Given the description of an element on the screen output the (x, y) to click on. 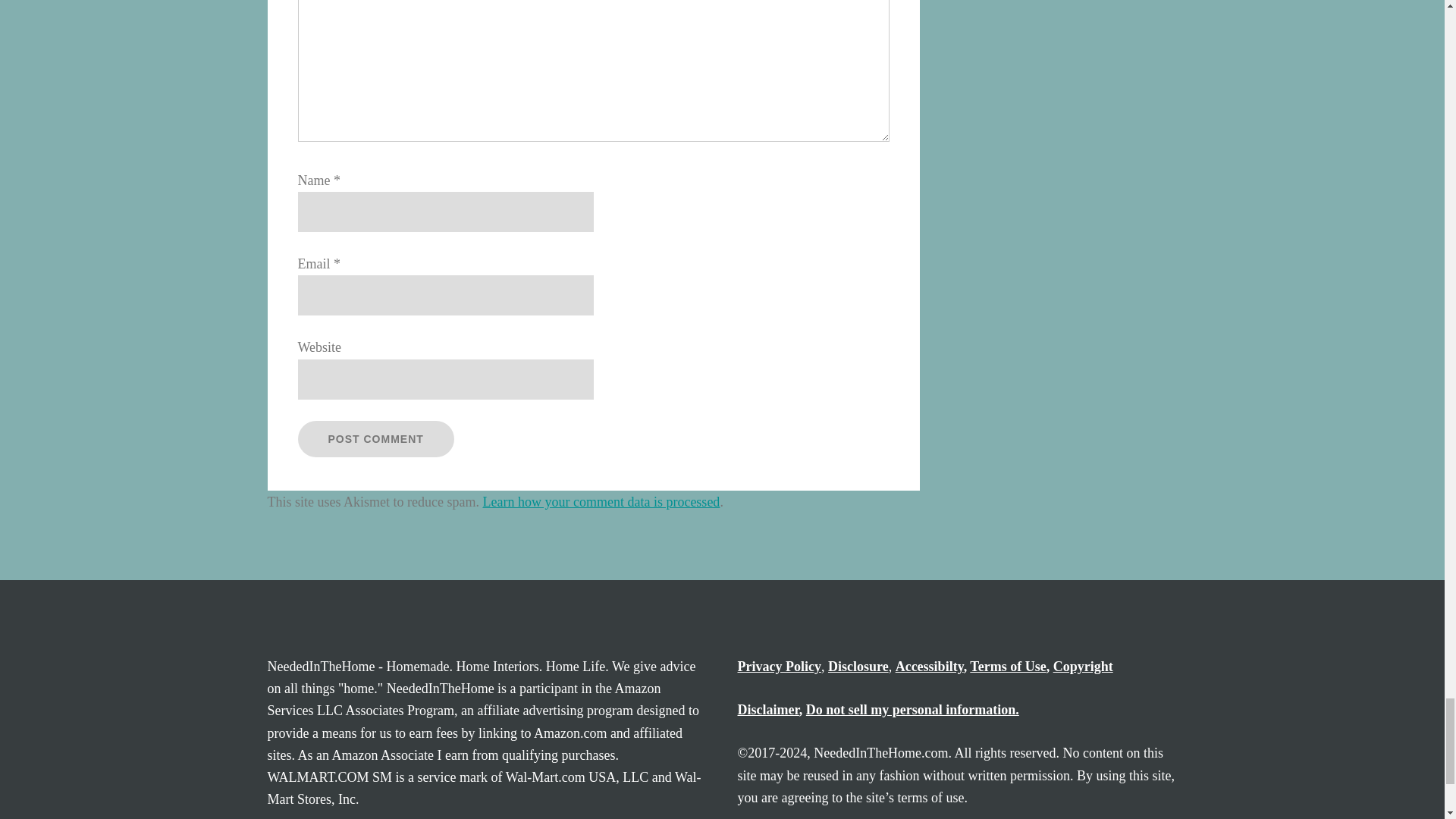
Post Comment (374, 438)
